Given the description of an element on the screen output the (x, y) to click on. 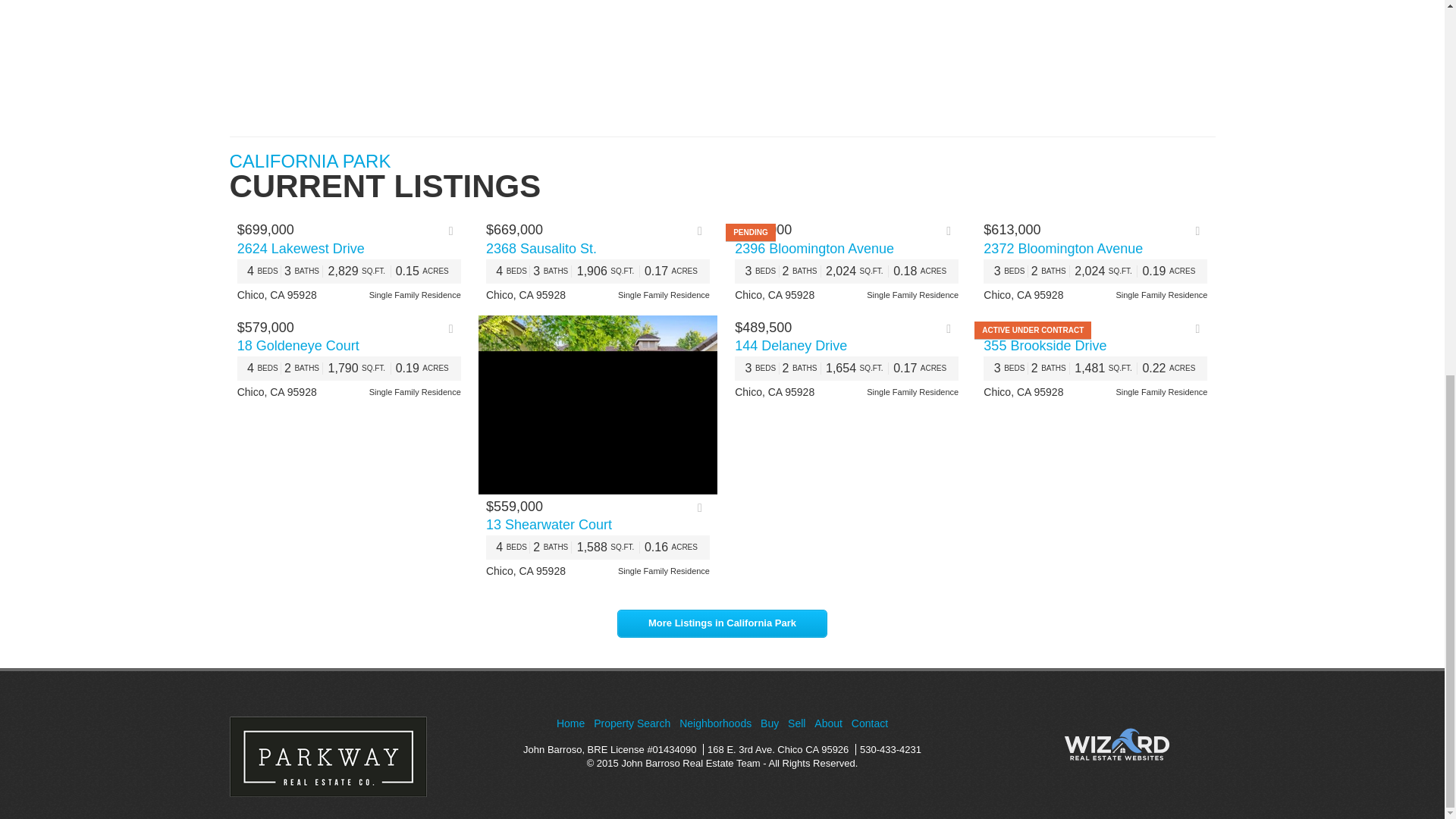
Add to Favorites (952, 231)
Add to Favorites (1201, 231)
Add to Favorites (952, 328)
Add to Favorites (454, 231)
Add to Favorites (1201, 328)
Add to Favorites (454, 328)
Add to Favorites (703, 507)
Add to Favorites (703, 231)
